Given the description of an element on the screen output the (x, y) to click on. 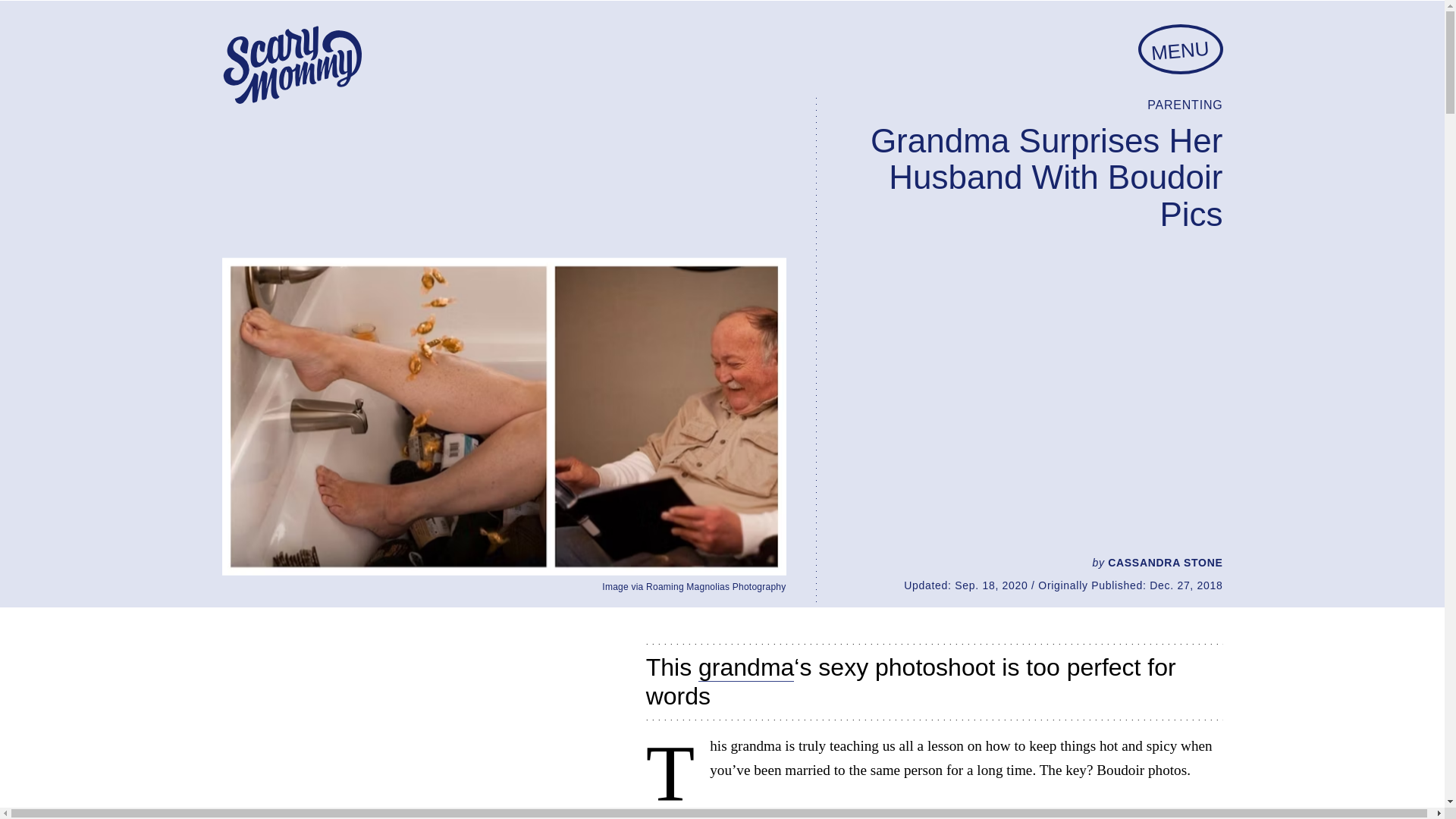
grandma (745, 667)
Scary Mommy (291, 64)
